Given the description of an element on the screen output the (x, y) to click on. 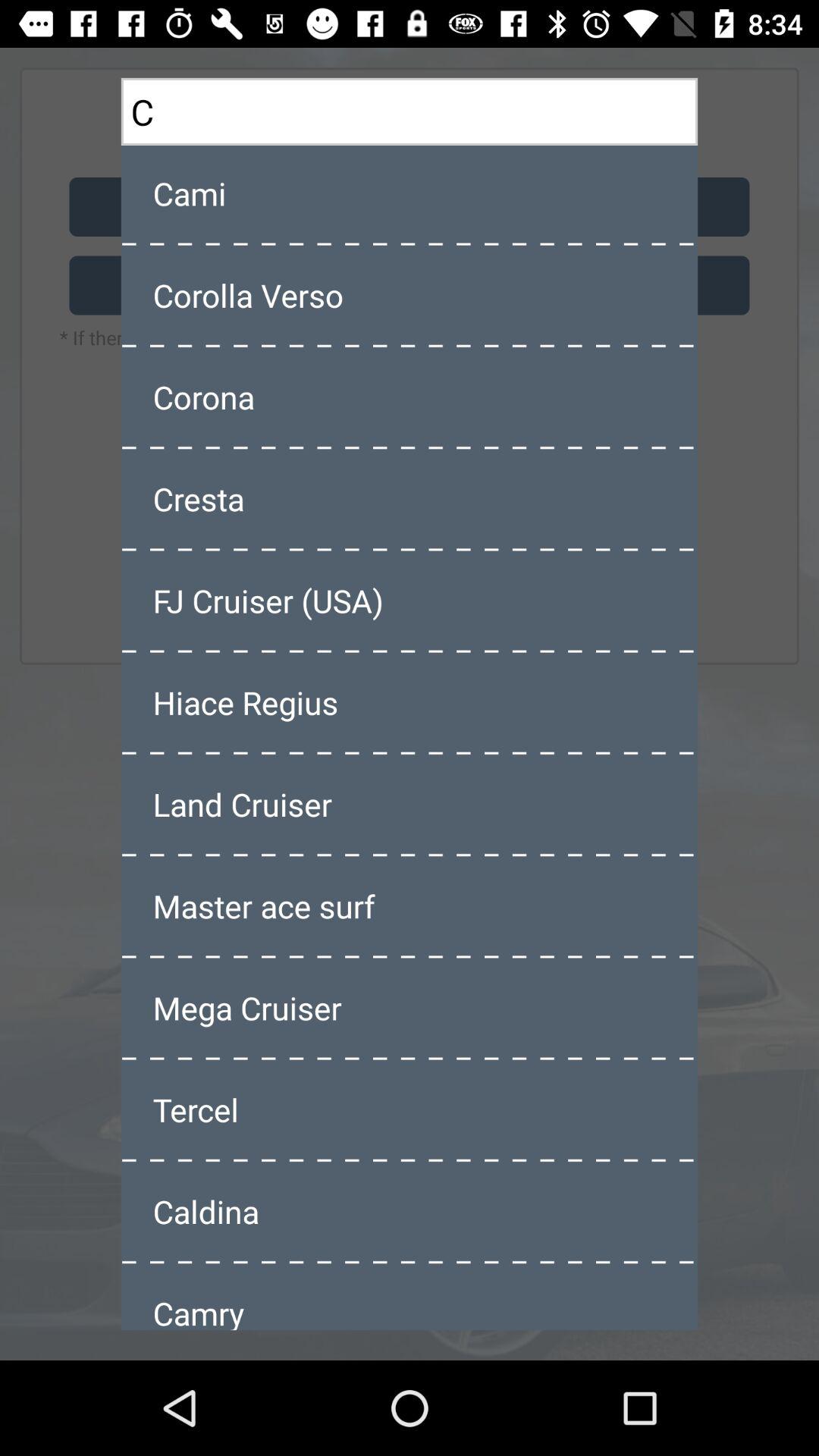
launch item below land cruiser icon (409, 905)
